Given the description of an element on the screen output the (x, y) to click on. 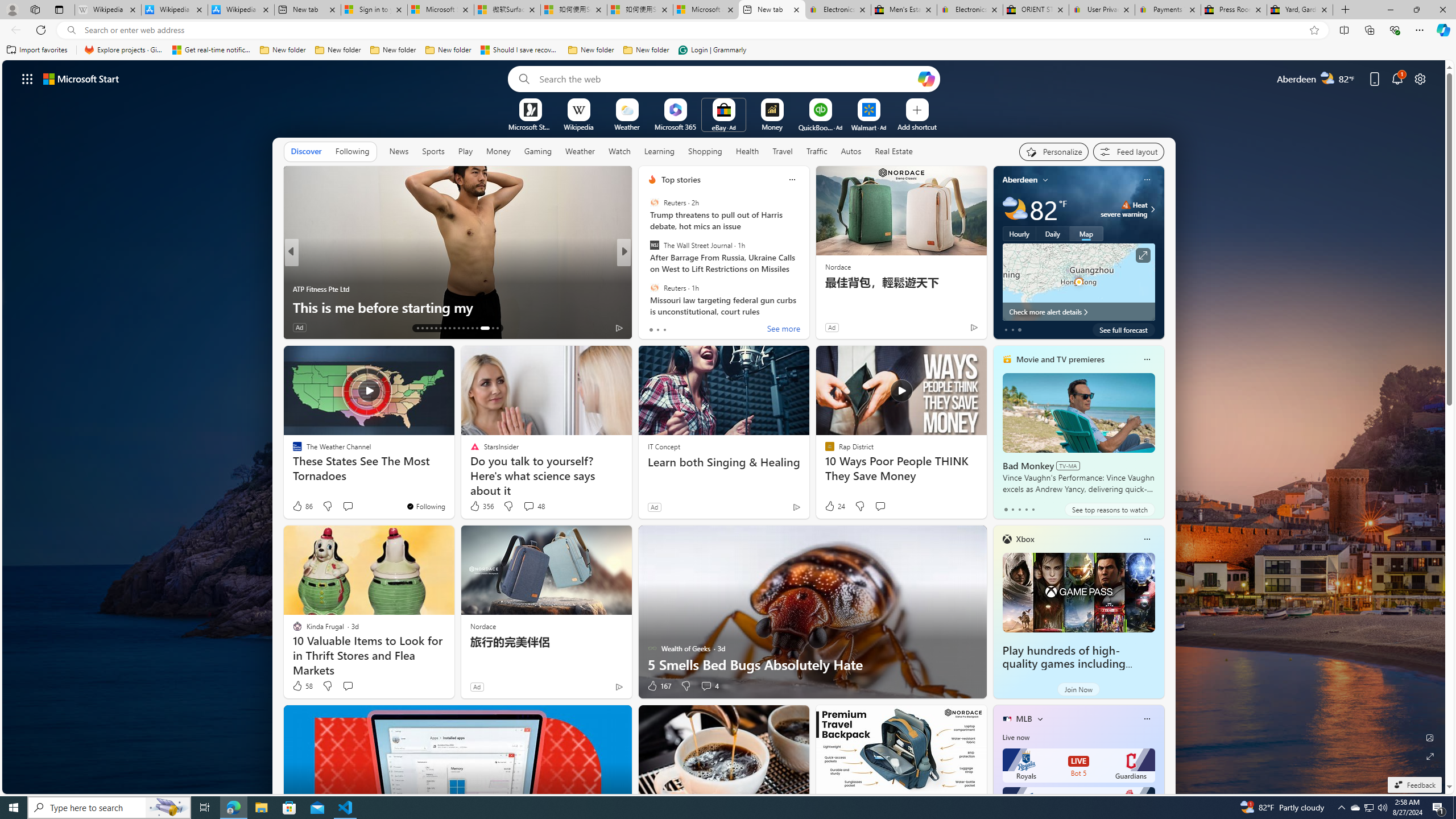
Favorites bar (728, 49)
Feed settings (1128, 151)
Xbox (1025, 538)
Top stories (680, 179)
tab-2 (1019, 509)
